Given the description of an element on the screen output the (x, y) to click on. 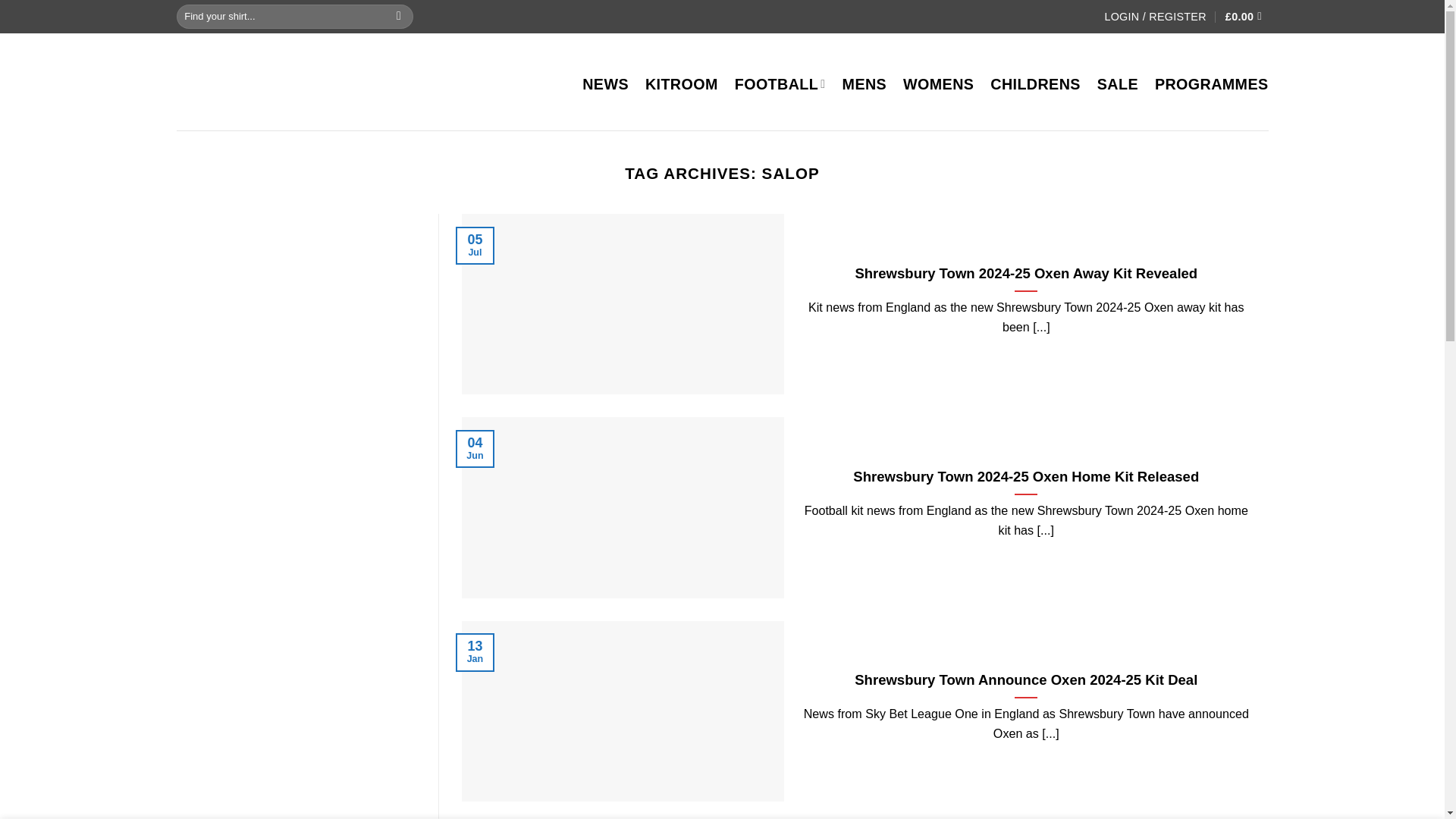
FOOTBALL (780, 83)
Basket (1246, 16)
Search (399, 16)
Customer reviews powered by Trustpilot (714, 16)
